Given the description of an element on the screen output the (x, y) to click on. 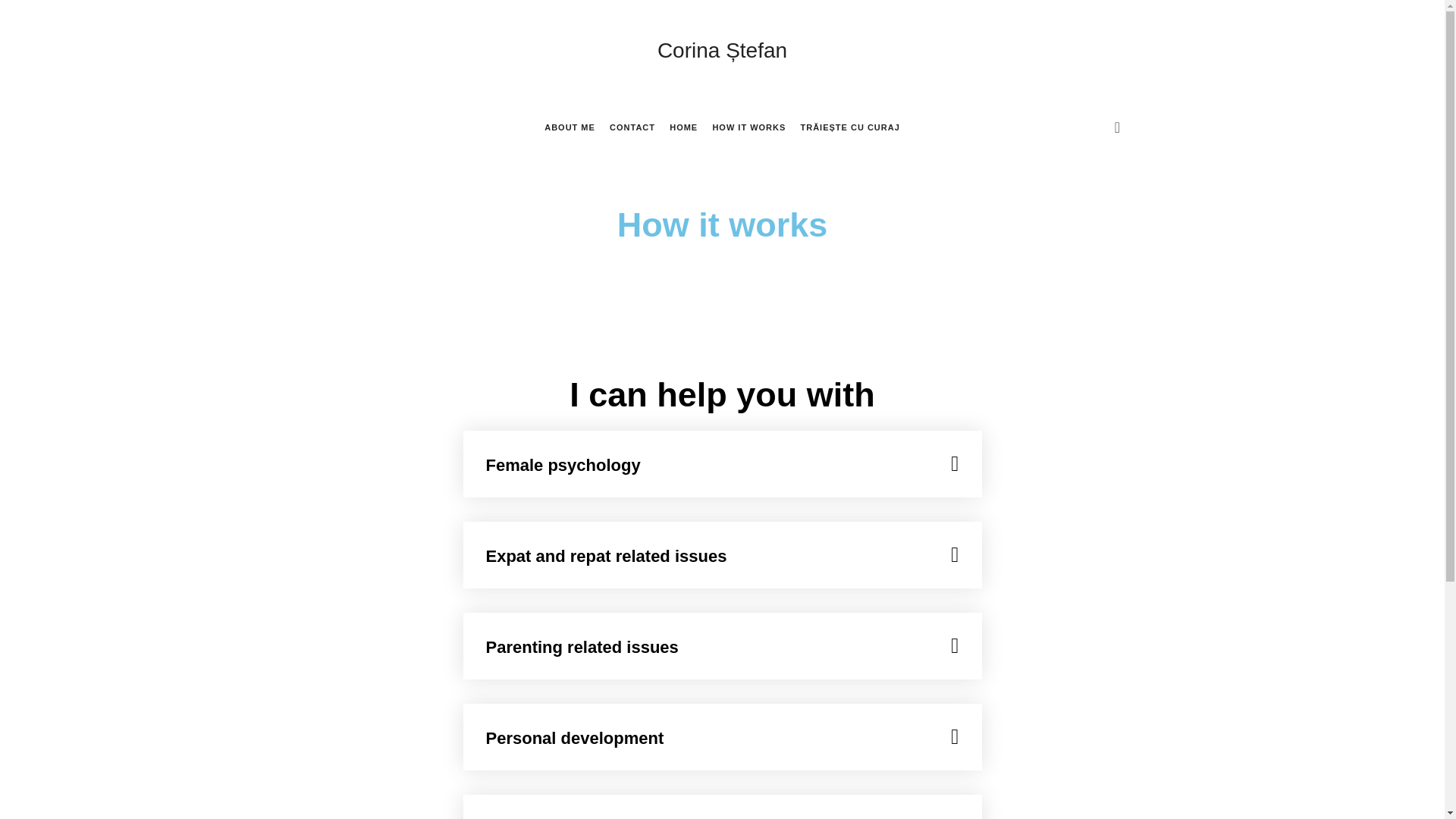
Parenting related issues (581, 647)
CONTACT (632, 127)
Female psychology (562, 465)
Expat and repat related issues (605, 556)
Personal development (573, 737)
ABOUT ME (569, 127)
HOW IT WORKS (748, 127)
